Given the description of an element on the screen output the (x, y) to click on. 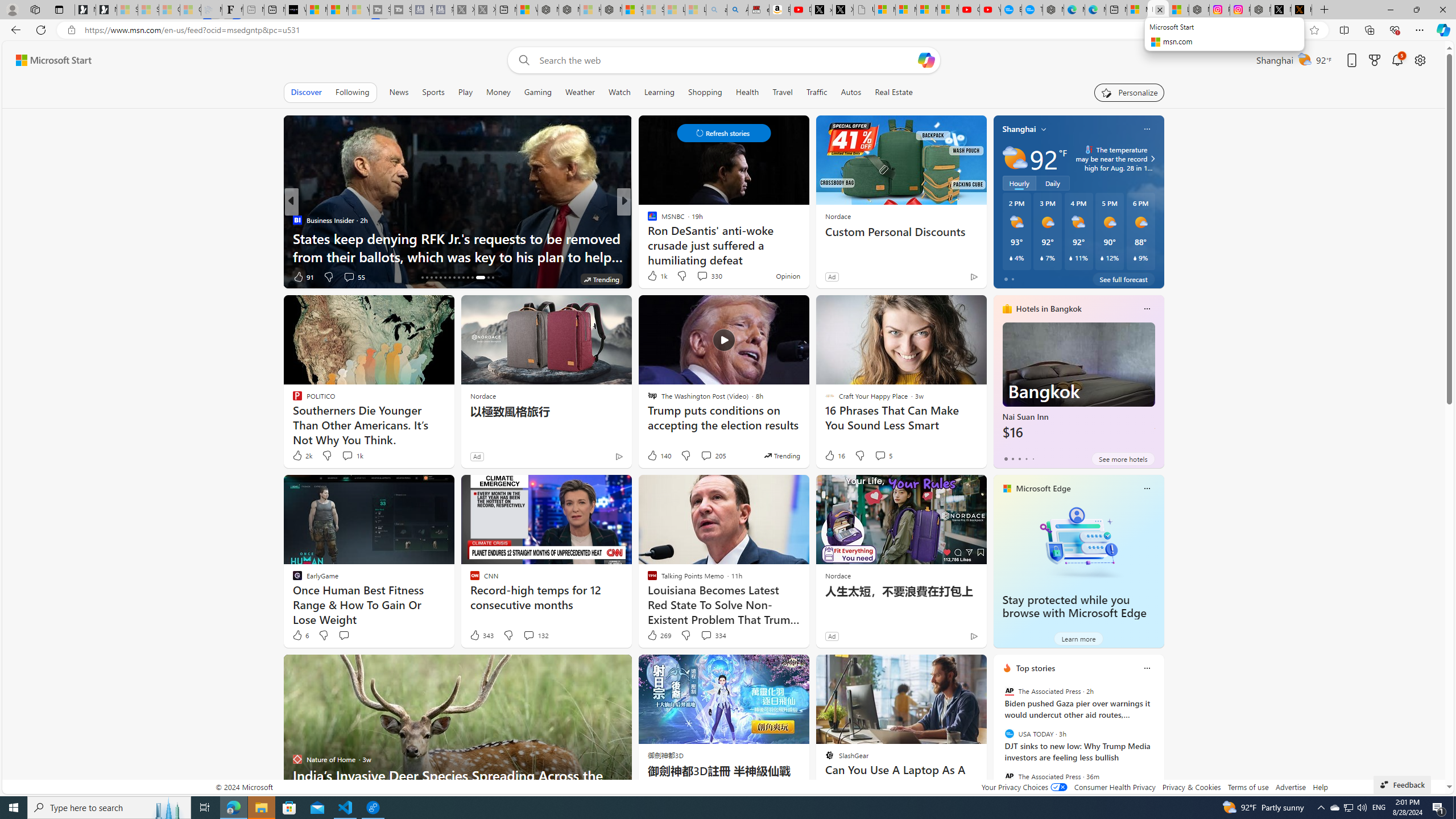
Weather (580, 92)
Shanghai (1018, 128)
View comments 205 Comment (712, 455)
Learn more (1078, 638)
Traffic (816, 92)
AutomationID: tab-23 (454, 277)
